Given the description of an element on the screen output the (x, y) to click on. 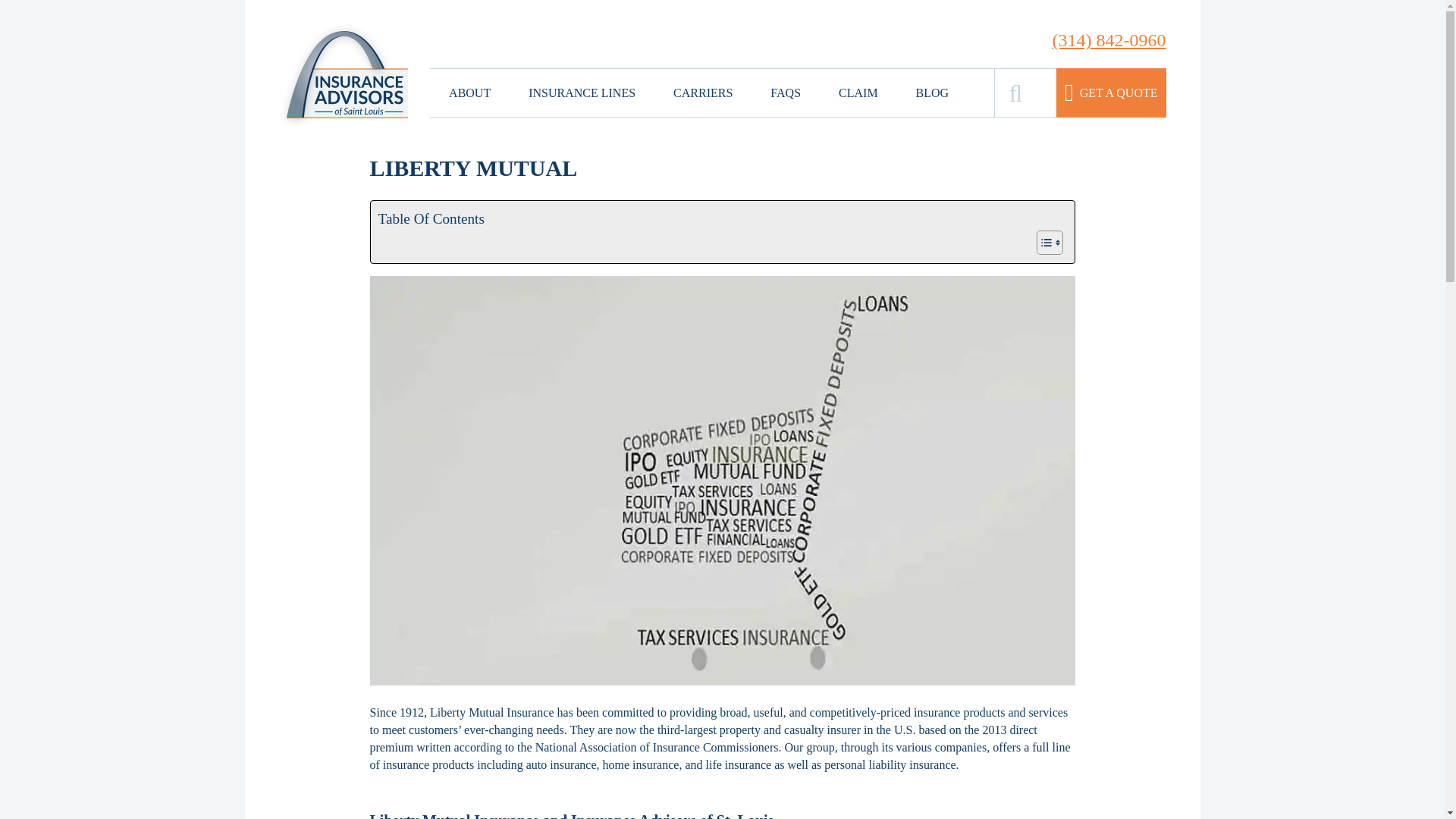
INSURANCE LINES (581, 92)
CARRIERS (702, 92)
BLOG (932, 92)
CLAIM (857, 92)
FAQS (785, 92)
GET A QUOTE (1111, 92)
ABOUT (469, 92)
